Given the description of an element on the screen output the (x, y) to click on. 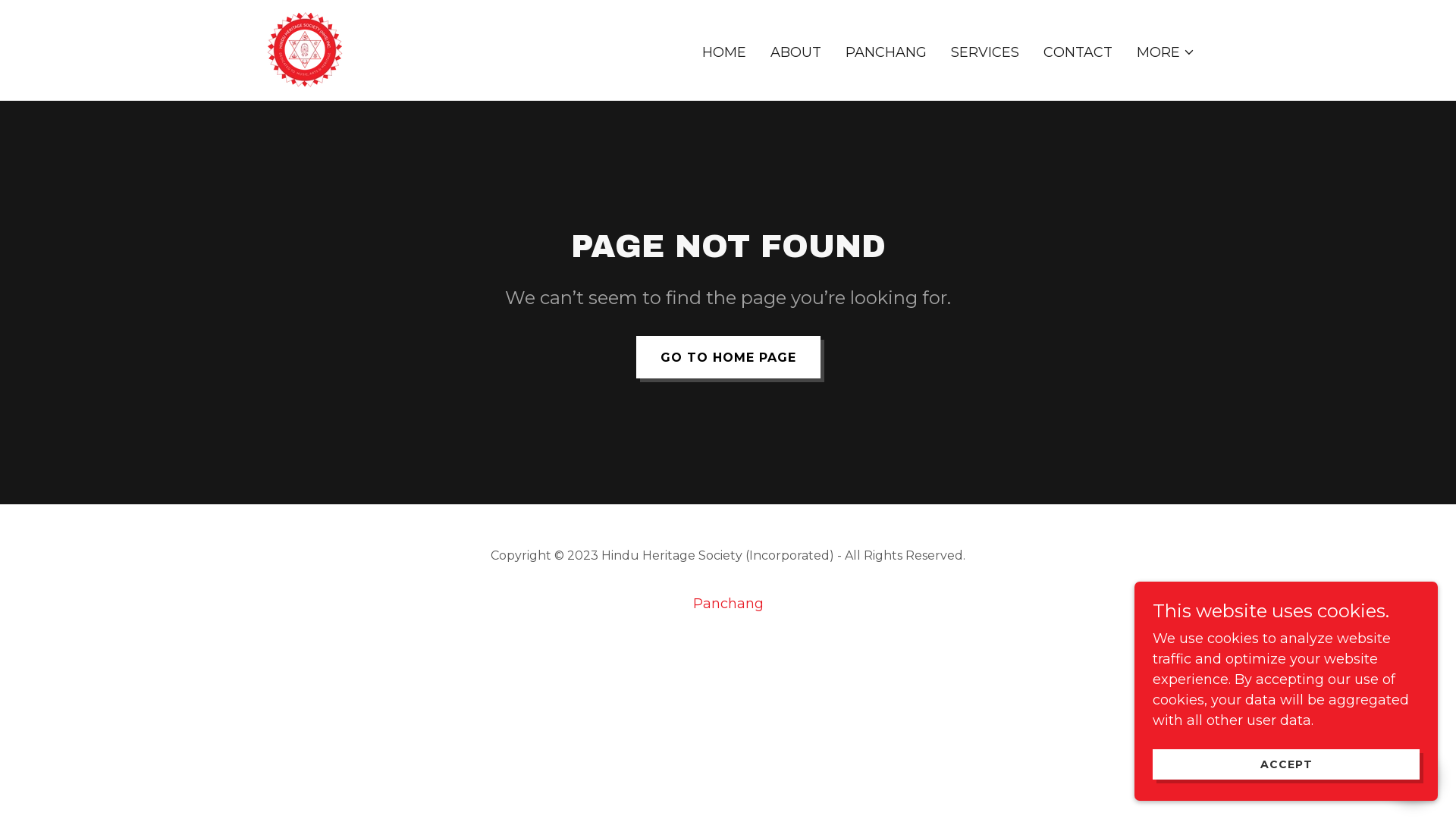
SERVICES Element type: text (984, 51)
Hindu Heritage Society (Incorporated) Element type: hover (304, 48)
HOME Element type: text (723, 51)
MORE Element type: text (1165, 51)
ACCEPT Element type: text (1285, 764)
GO TO HOME PAGE Element type: text (727, 356)
Panchang Element type: text (728, 603)
CONTACT Element type: text (1077, 51)
ABOUT Element type: text (795, 51)
PANCHANG Element type: text (885, 51)
